Given the description of an element on the screen output the (x, y) to click on. 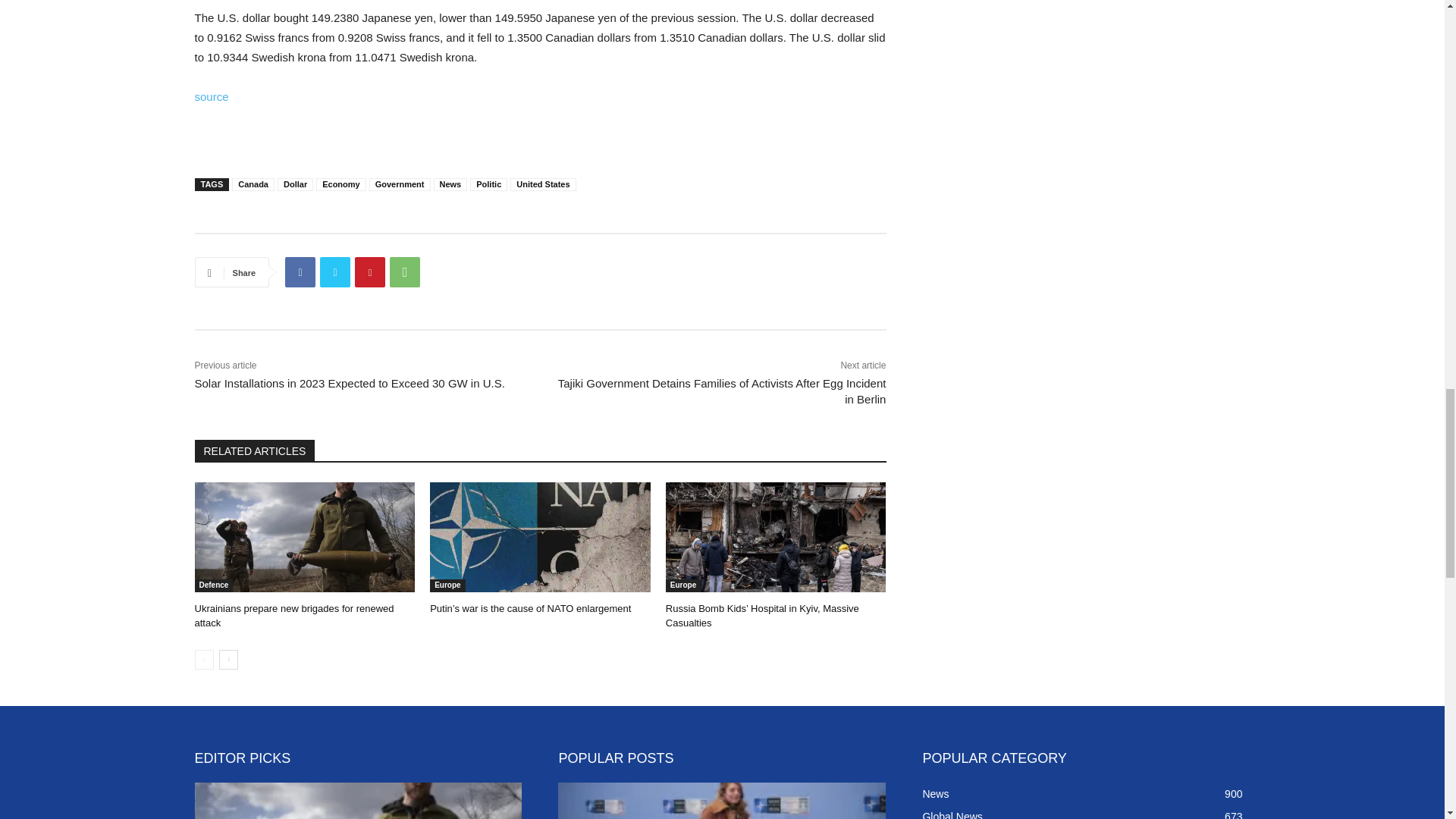
Facebook (300, 272)
